Given the description of an element on the screen output the (x, y) to click on. 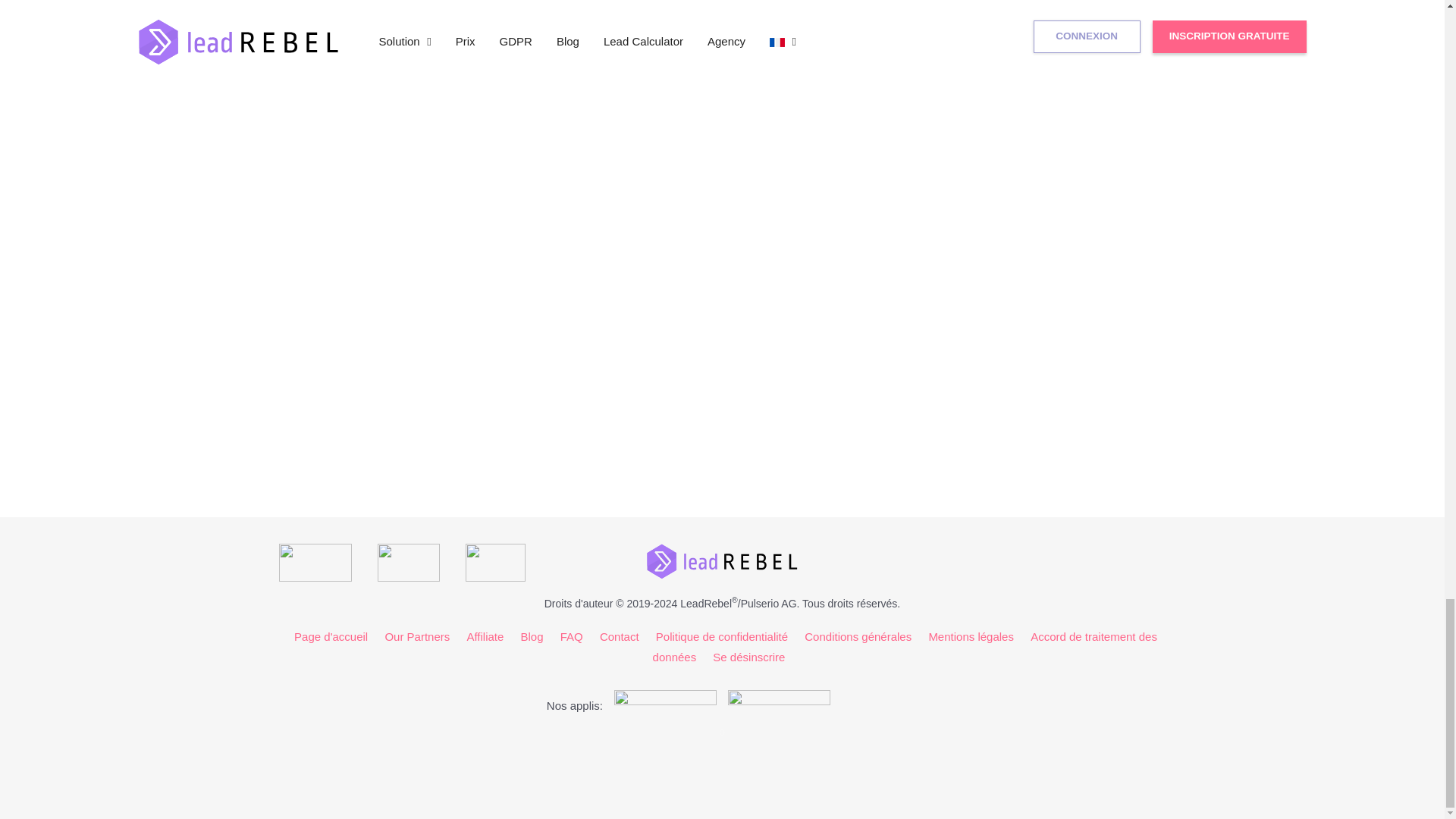
FAQ (571, 635)
Contact (619, 635)
Our Partners (416, 635)
Blog (532, 635)
Affiliate (484, 635)
Page d'accueil (331, 635)
